Given the description of an element on the screen output the (x, y) to click on. 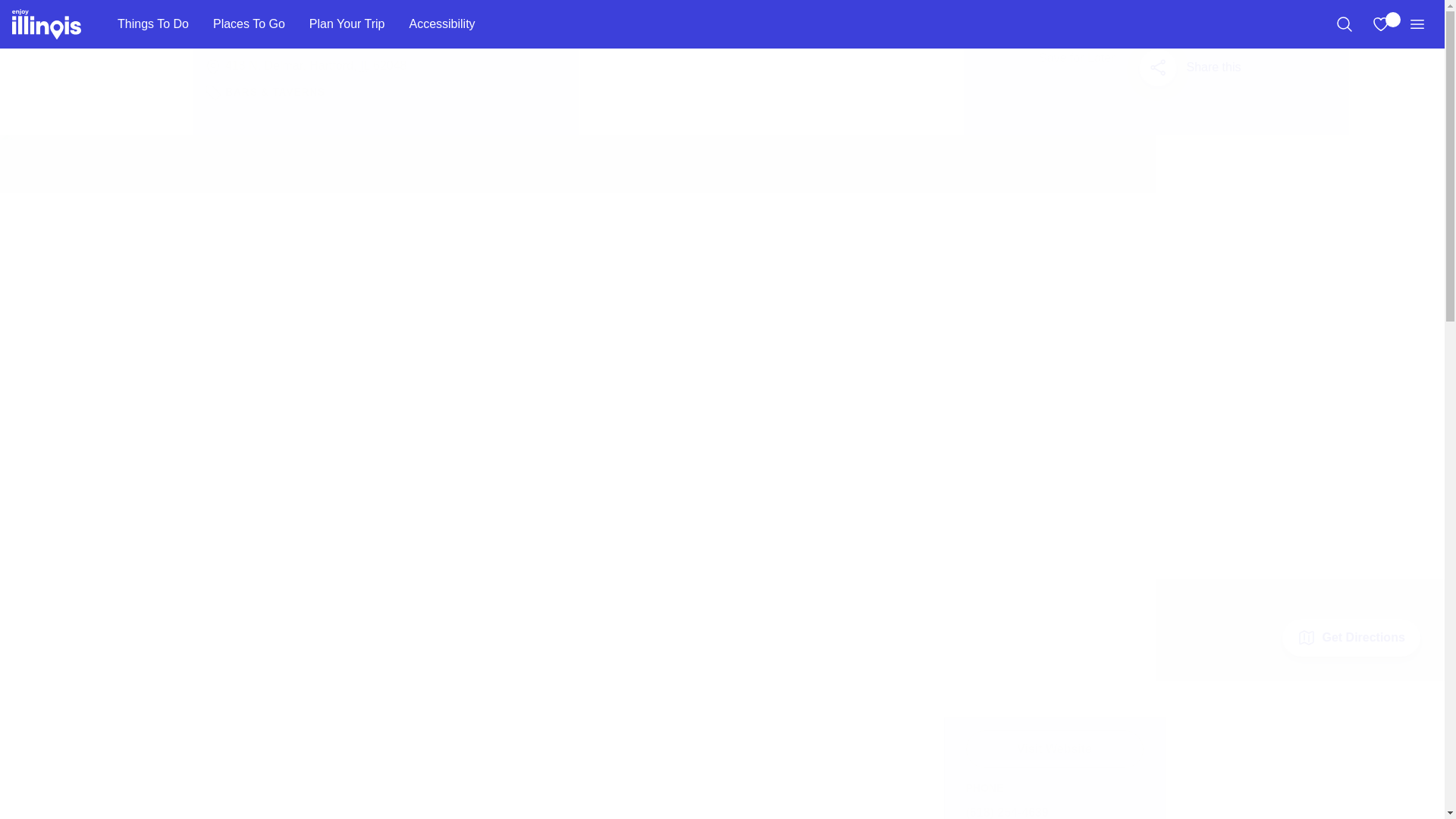
Menu (1417, 24)
Places To Go (248, 24)
Accessibility (441, 24)
Search the Site (1344, 24)
Plan Your Trip (347, 24)
Things To Do (152, 24)
View My Favorites (1380, 24)
